Given the description of an element on the screen output the (x, y) to click on. 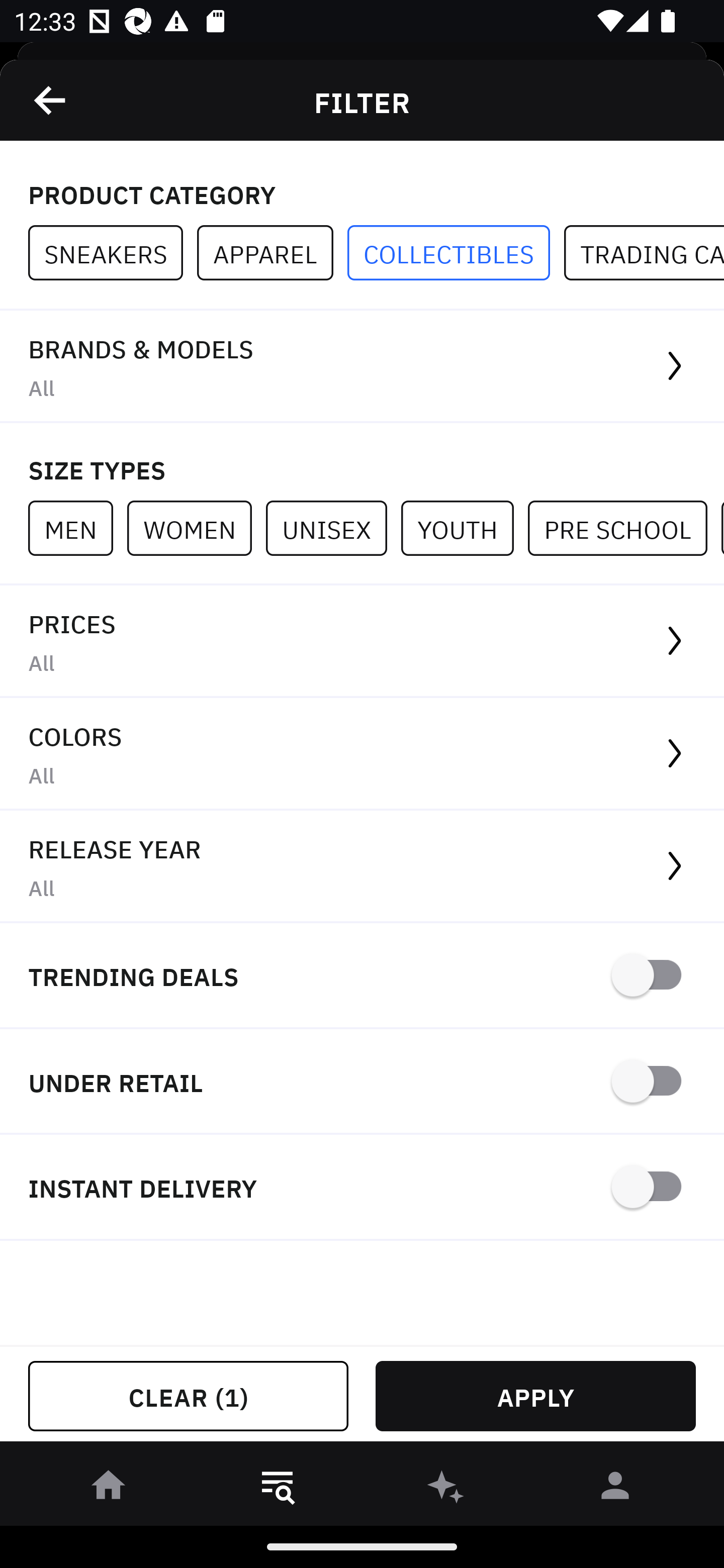
 (50, 100)
SNEAKERS (112, 252)
APPAREL (271, 252)
COLLECTIBLES (455, 252)
TRADING CARDS (643, 252)
BRANDS & MODELS All (362, 366)
MEN (77, 527)
WOMEN (196, 527)
UNISEX (333, 527)
YOUTH (464, 527)
PRE SCHOOL (624, 527)
PRICES All (362, 640)
COLORS All (362, 753)
RELEASE YEAR All (362, 866)
TRENDING DEALS (362, 975)
UNDER RETAIL (362, 1081)
INSTANT DELIVERY (362, 1187)
CLEAR (1) (188, 1396)
APPLY (535, 1396)
󰋜 (108, 1488)
󱎸 (277, 1488)
󰫢 (446, 1488)
󰀄 (615, 1488)
